Given the description of an element on the screen output the (x, y) to click on. 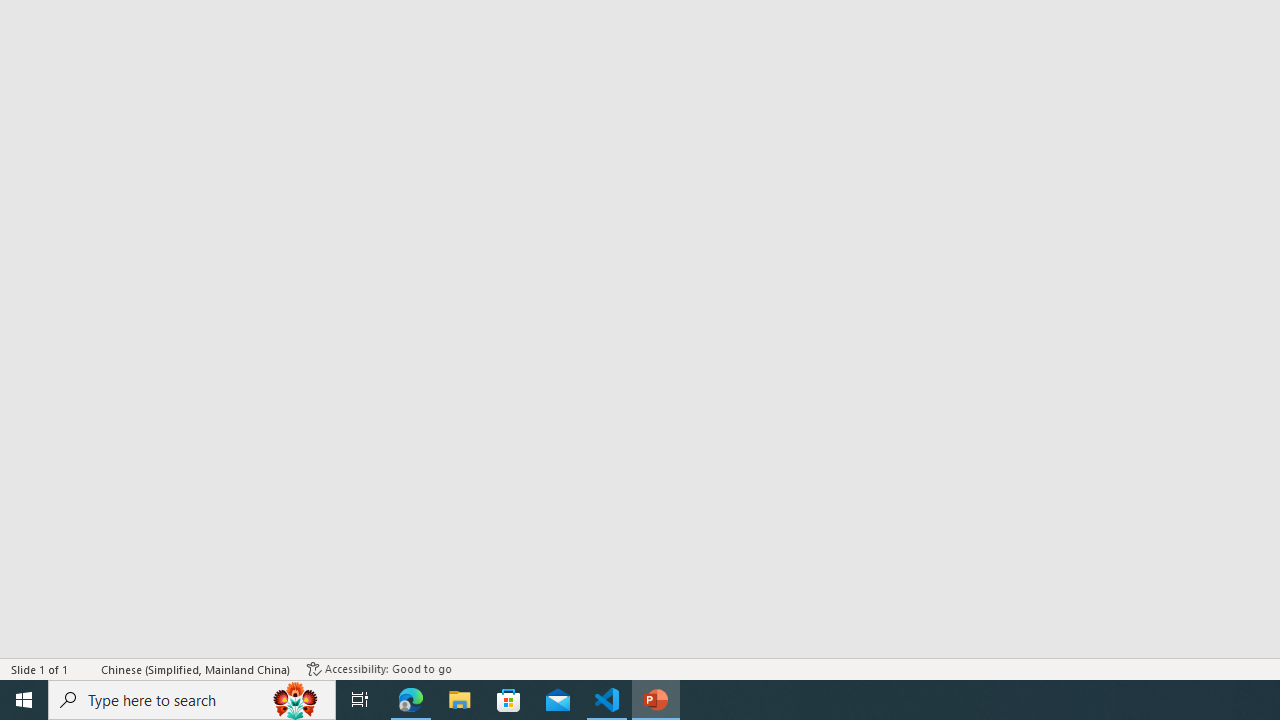
Accessibility Checker Accessibility: Good to go (379, 668)
Spell Check  (86, 668)
